Given the description of an element on the screen output the (x, y) to click on. 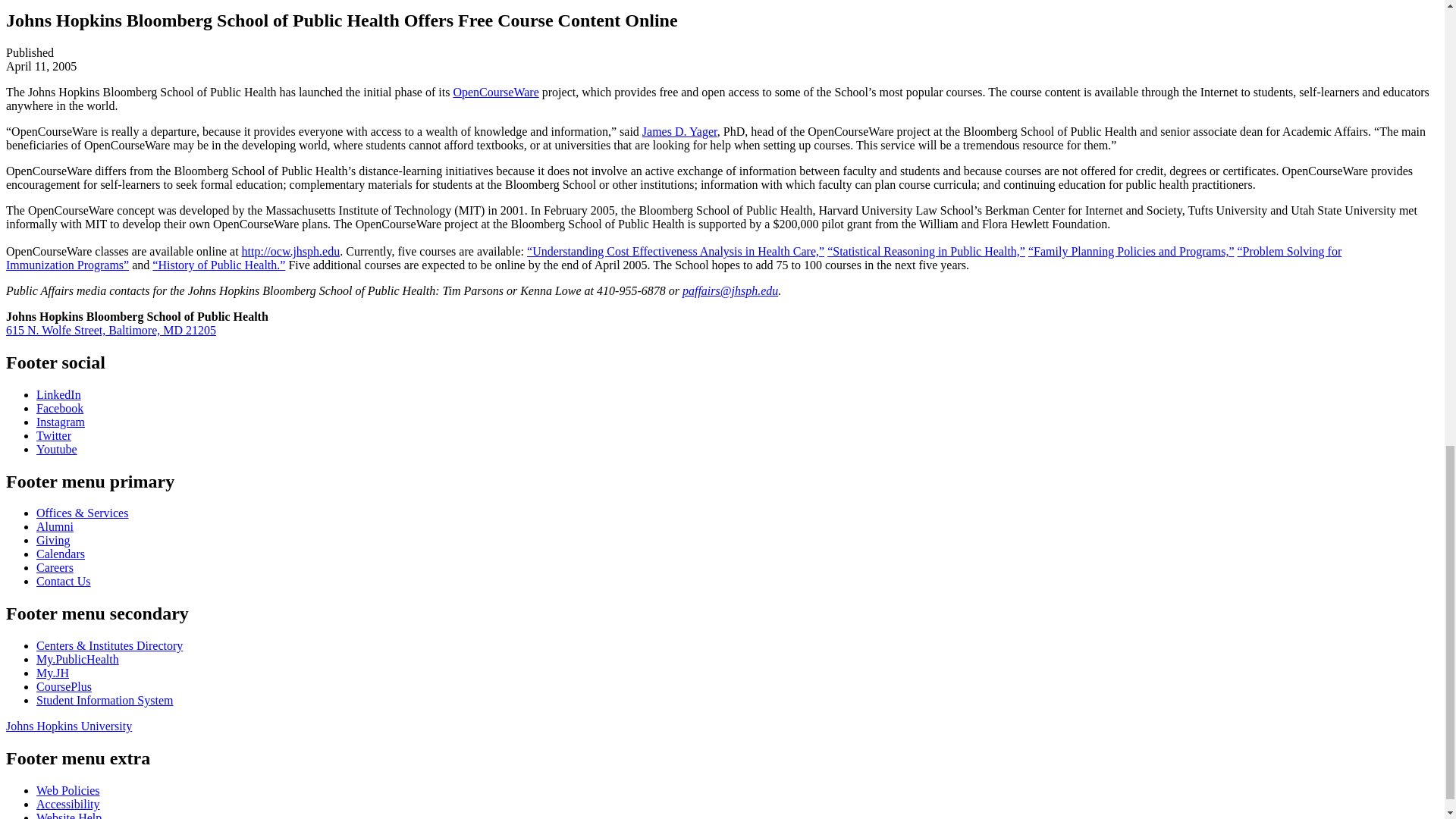
History of Public Health (218, 264)
Statistical Reasoning in Public Health (926, 250)
Job Opportunities and Career Resources (55, 567)
Problem Solving for Immunization Programs (672, 257)
Family Planning Policies and Programs (1130, 250)
James Yager (679, 131)
OpenCourceWare (495, 91)
Understanding Cost Effectiveness Analysis in Health Care (675, 250)
